Given the description of an element on the screen output the (x, y) to click on. 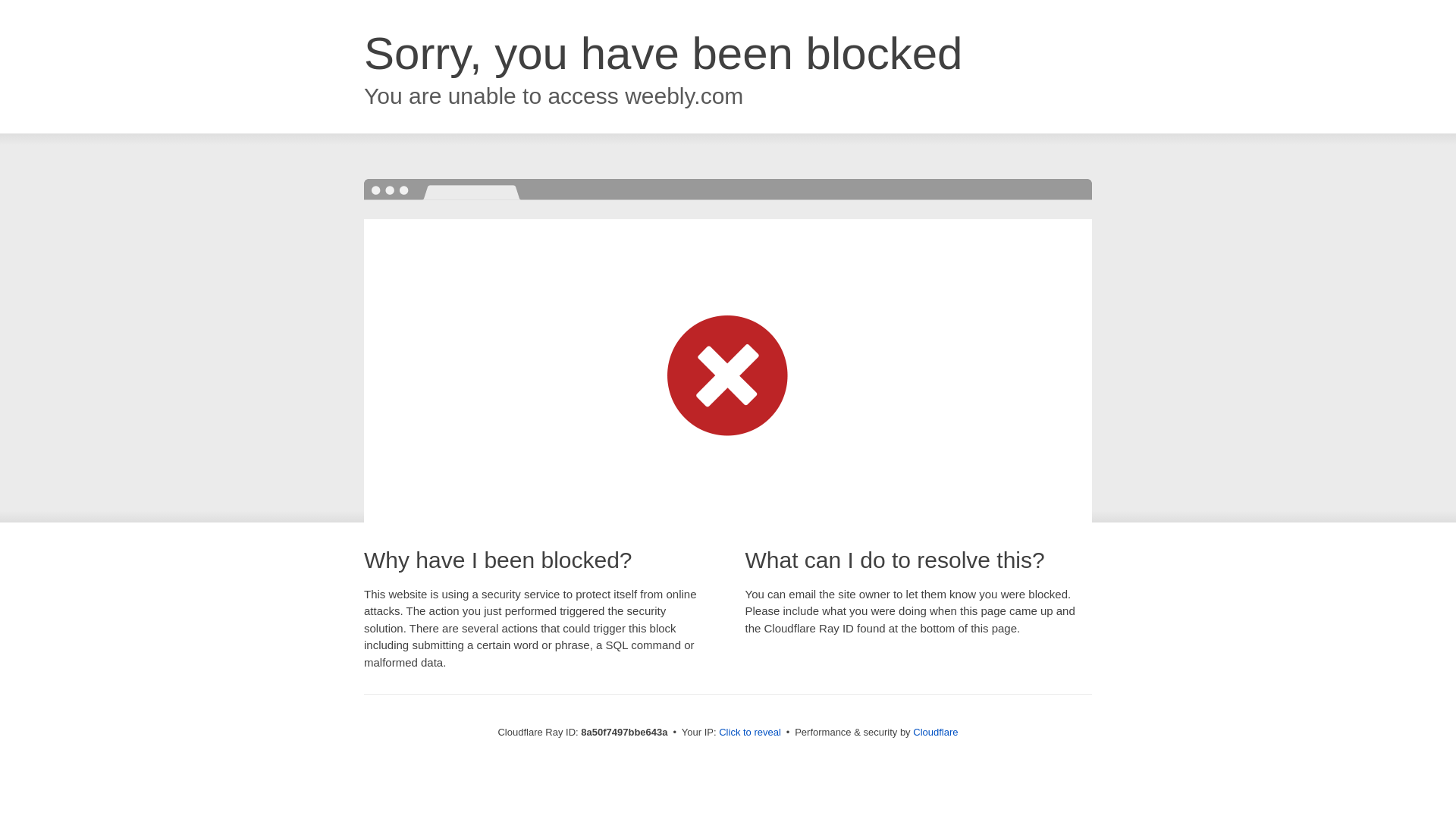
Click to reveal (749, 732)
Cloudflare (935, 731)
